Given the description of an element on the screen output the (x, y) to click on. 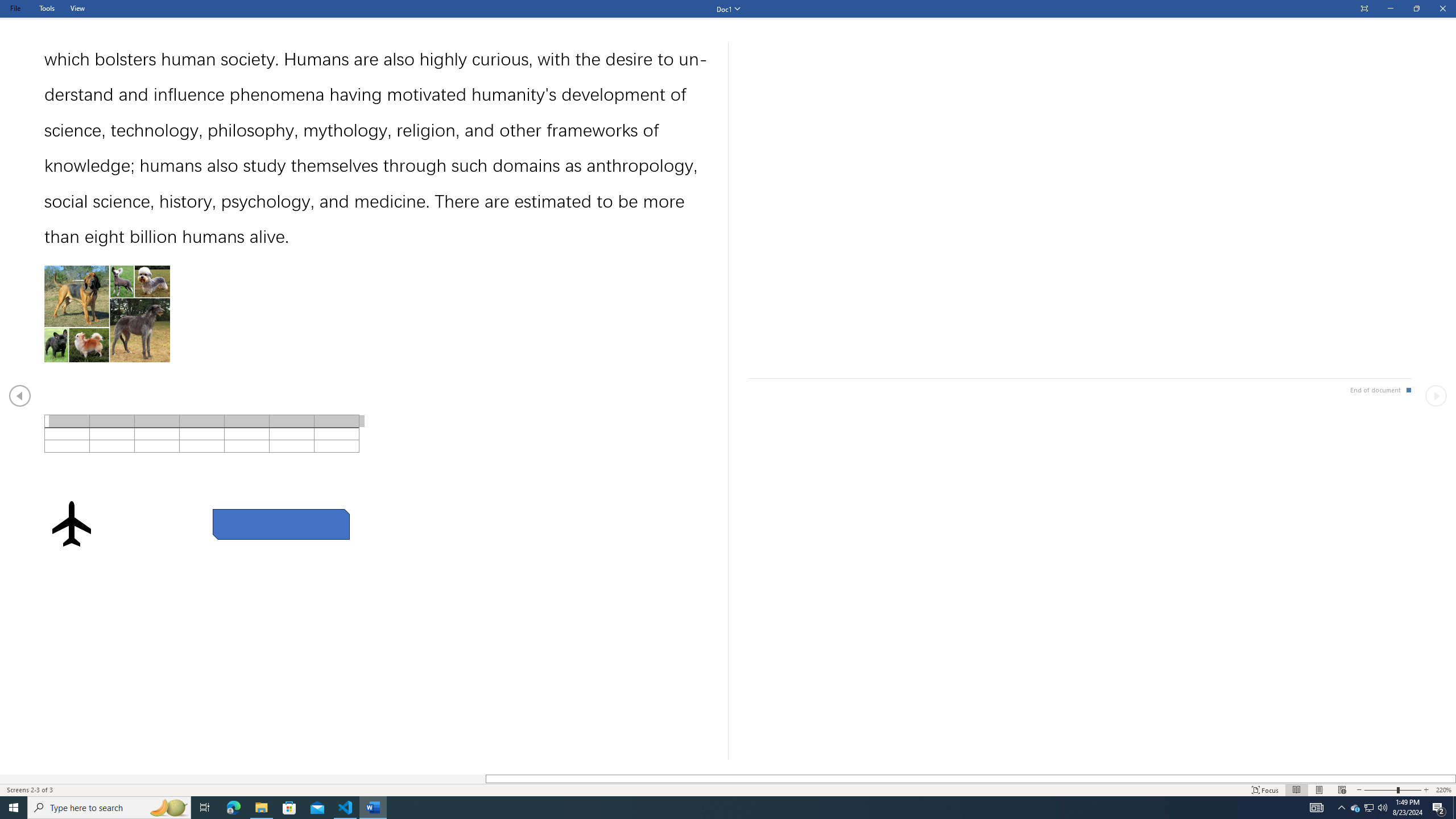
Page left (243, 778)
Decrease Text Size (1359, 790)
Auto-hide Reading Toolbar (1364, 9)
Rectangle: Diagonal Corners Snipped 2 (280, 524)
Text Size (1392, 790)
